Given the description of an element on the screen output the (x, y) to click on. 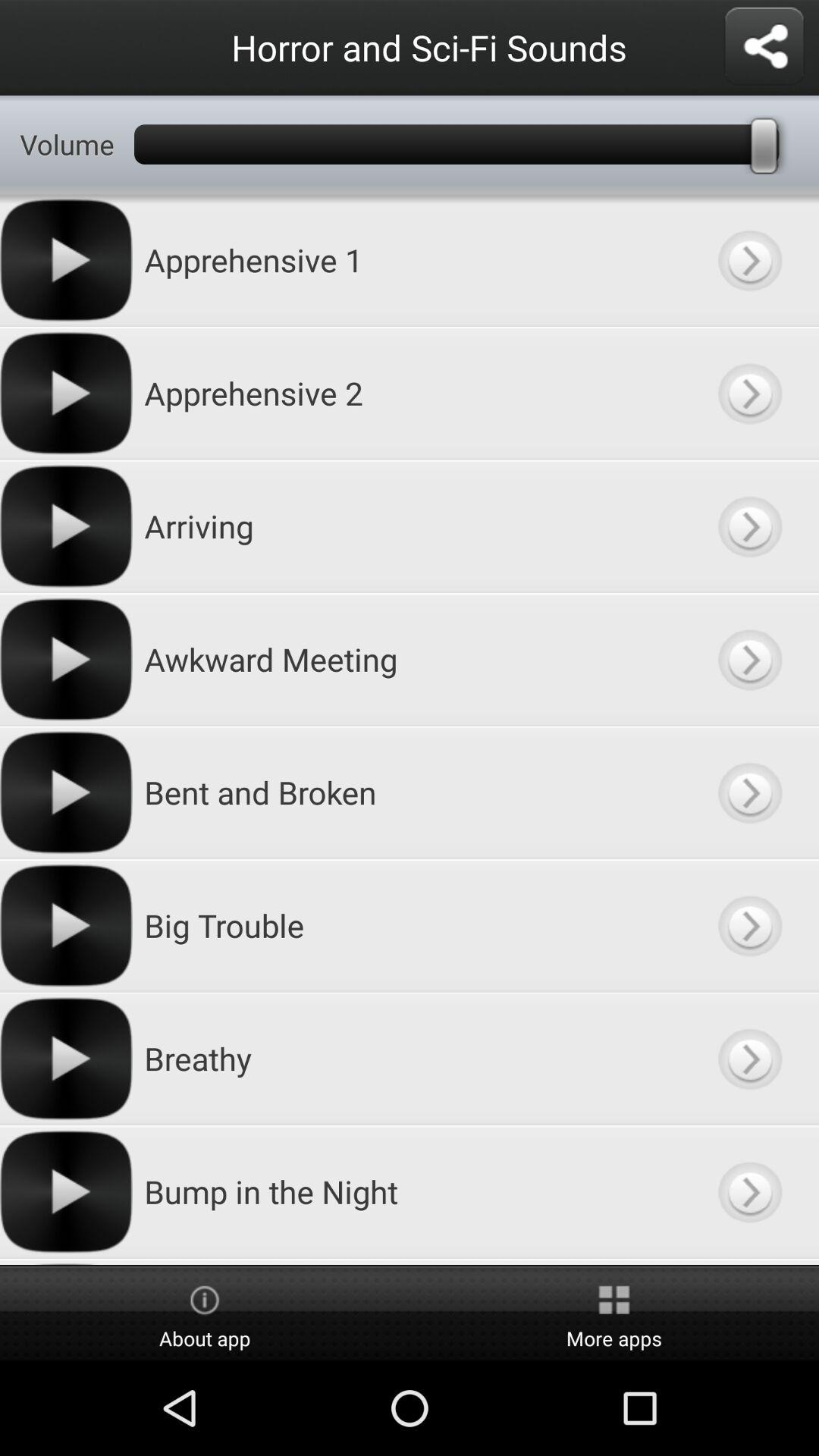
play the sound (749, 925)
